Given the description of an element on the screen output the (x, y) to click on. 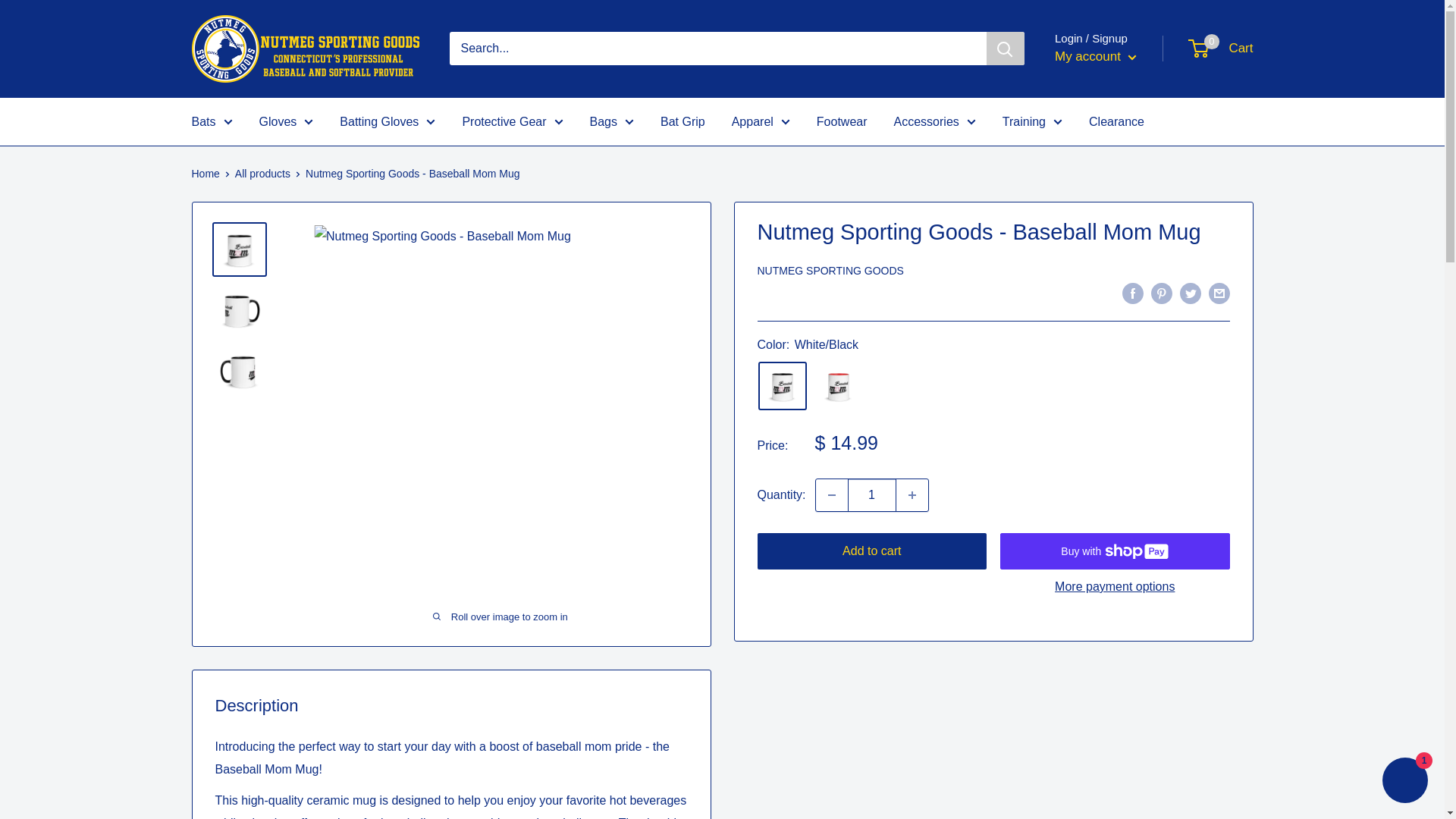
Decrease quantity by 1 (831, 495)
1 (871, 495)
Increase quantity by 1 (912, 495)
Shopify online store chat (1404, 781)
